Given the description of an element on the screen output the (x, y) to click on. 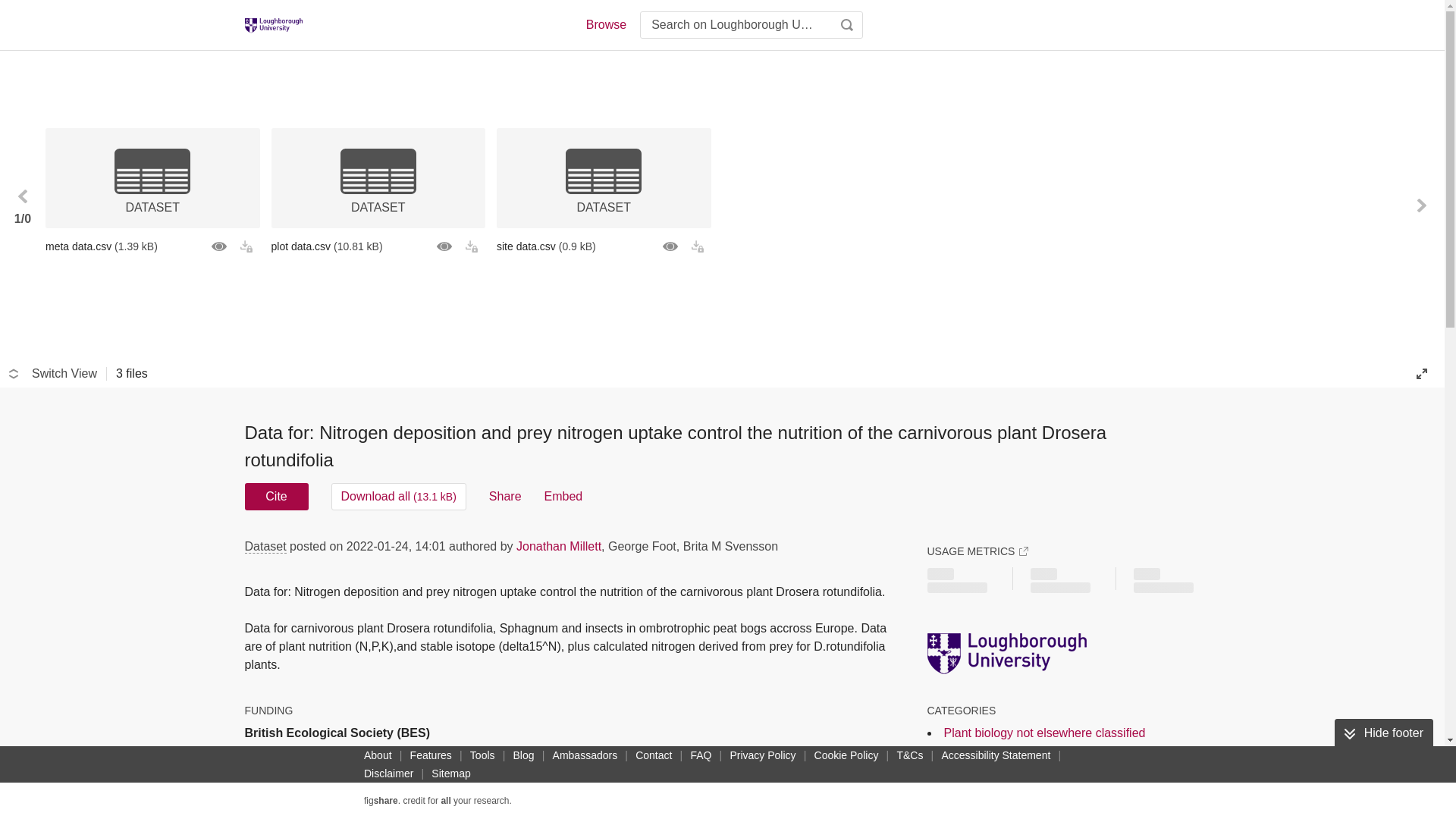
Embed (563, 496)
Terrestrial ecology (992, 805)
Cite (275, 496)
Jonathan Millett (558, 545)
Share (505, 496)
Plant biology not elsewhere classified (1043, 732)
Browse (605, 24)
Switch View (52, 373)
plot data.csv (378, 246)
USAGE METRICS (976, 551)
